Given the description of an element on the screen output the (x, y) to click on. 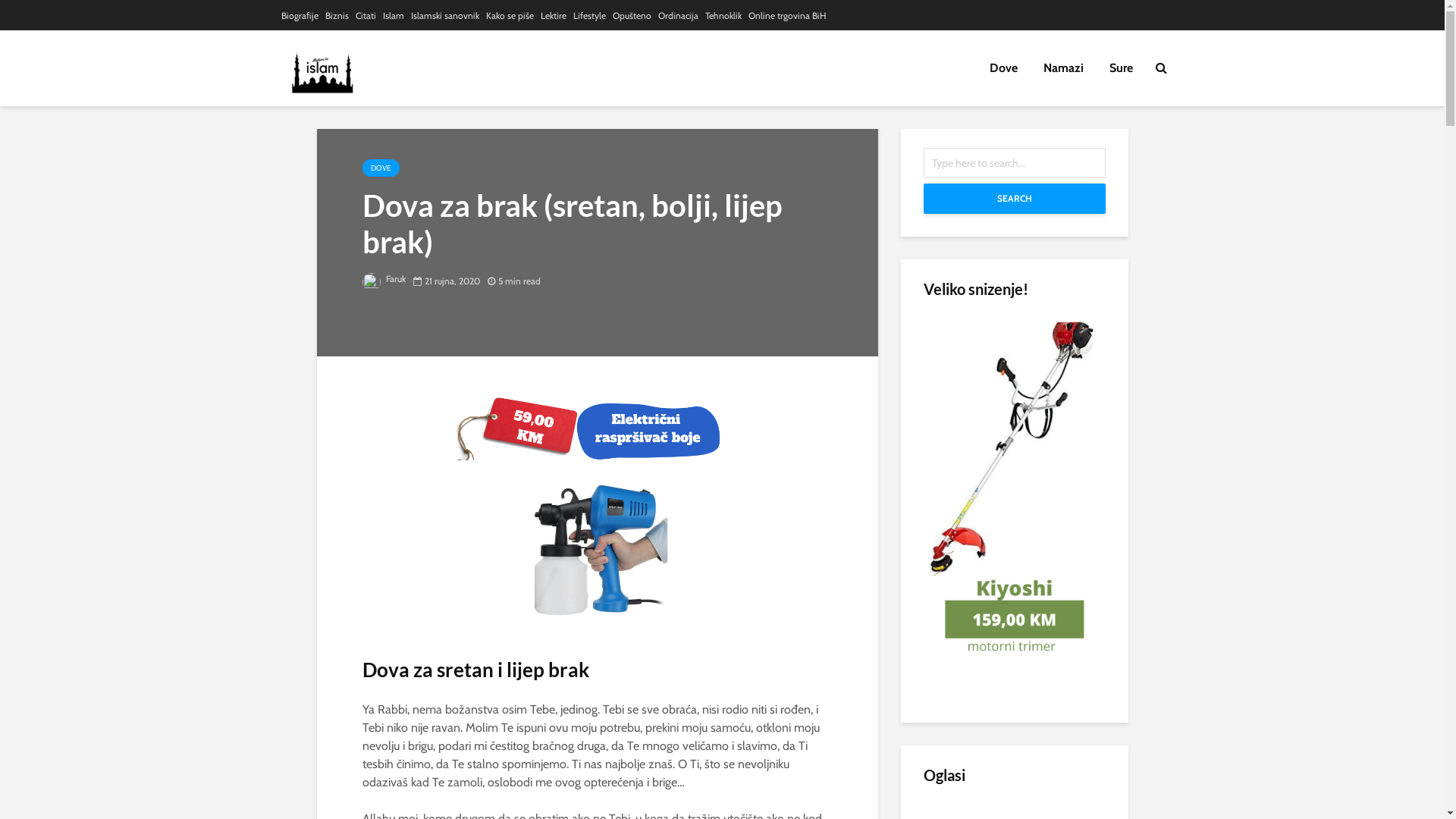
SEARCH Element type: text (1014, 198)
Lektire Element type: text (552, 15)
Online trgovina BiH Element type: text (786, 15)
DOVE Element type: text (380, 167)
Biznis Element type: text (336, 15)
Islam Element type: text (392, 15)
Biografije Element type: text (298, 15)
Citati Element type: text (364, 15)
Ordinacija Element type: text (678, 15)
Dove Element type: text (1003, 68)
Islamski sanovnik Element type: text (445, 15)
Namazi Element type: text (1062, 68)
Faruk Element type: text (383, 278)
Sure Element type: text (1121, 68)
Lifestyle Element type: text (589, 15)
Tehnoklik Element type: text (723, 15)
